Given the description of an element on the screen output the (x, y) to click on. 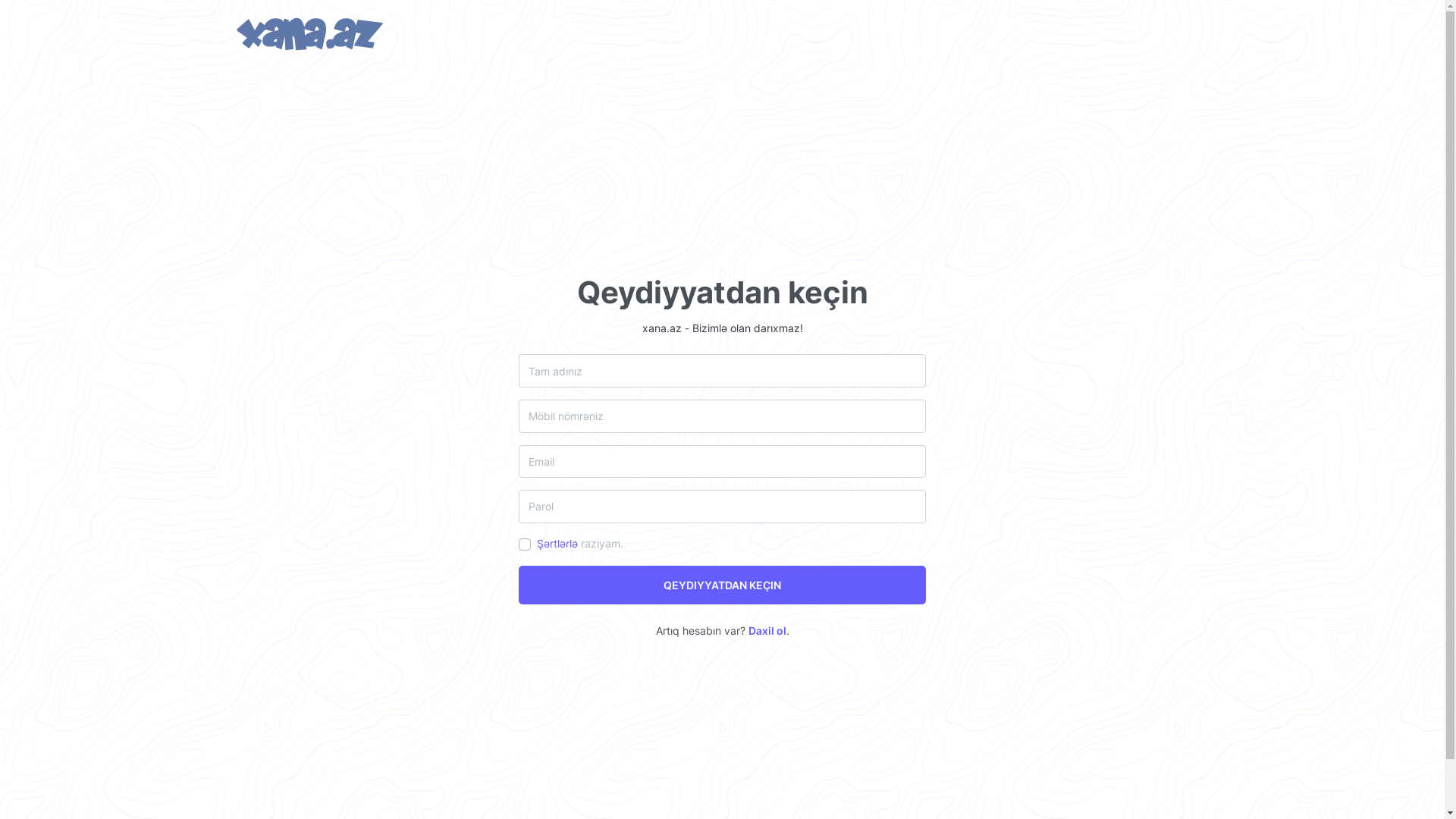
Daxil ol Element type: text (766, 630)
